Given the description of an element on the screen output the (x, y) to click on. 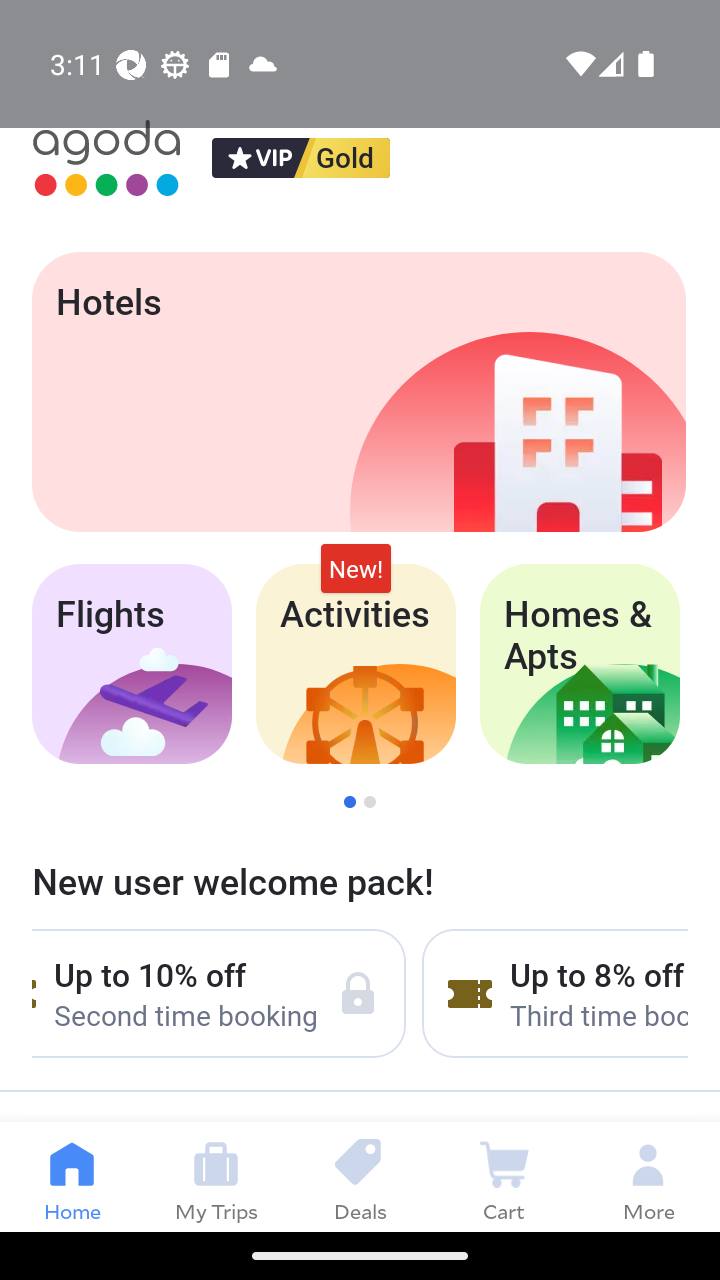
Hotels (358, 392)
New! (355, 568)
Flights (131, 664)
Activities (355, 664)
Homes & Apts (579, 664)
Home (72, 1176)
My Trips (216, 1176)
Deals (360, 1176)
Cart (504, 1176)
More (648, 1176)
